Given the description of an element on the screen output the (x, y) to click on. 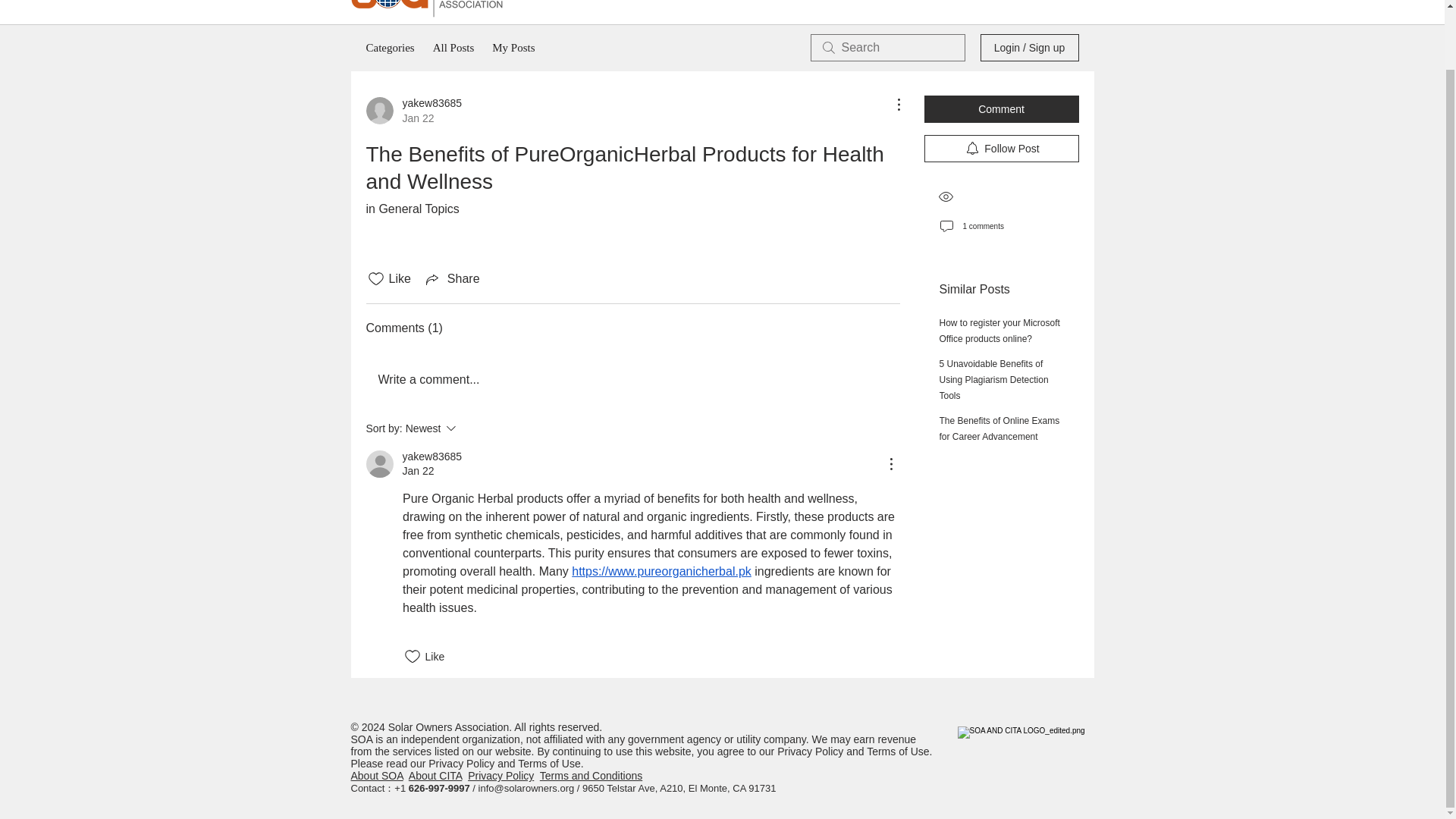
Learn (941, 2)
Terms and Conditions (591, 775)
Read (890, 2)
Follow Post (1000, 148)
Share (413, 110)
My Posts (451, 279)
in General Topics (513, 47)
About SOA (411, 208)
About CITA  (376, 775)
